Given the description of an element on the screen output the (x, y) to click on. 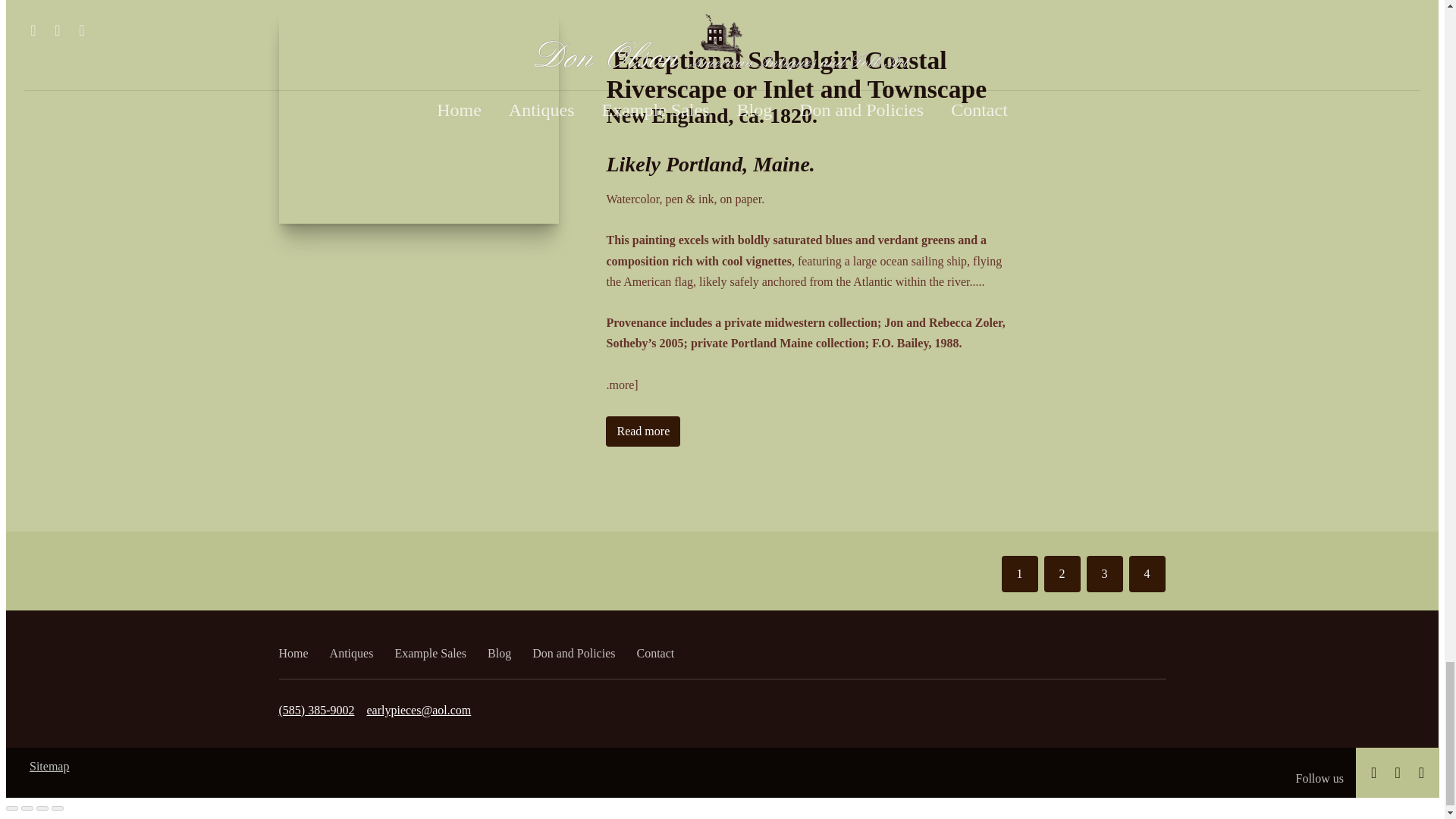
Share (27, 807)
Toggle fullscreen (42, 807)
Read more (642, 431)
